Given the description of an element on the screen output the (x, y) to click on. 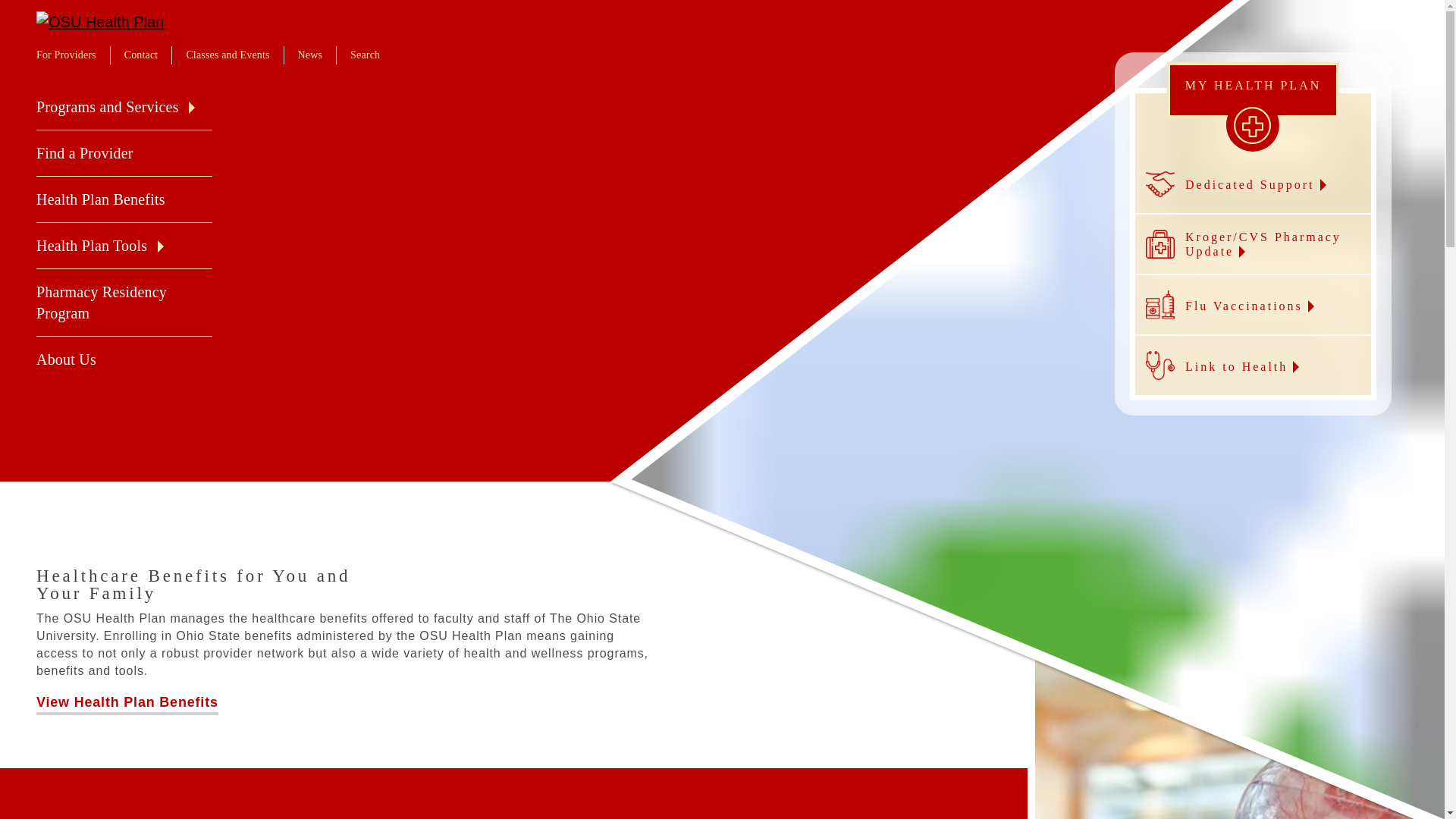
Contact (140, 54)
Programs and Services (107, 106)
Search (365, 54)
Pharmacy Residency Program (101, 302)
Dedicated Support (1252, 183)
News (310, 54)
Flu Vaccinations (1252, 304)
View Health Plan Benefits (127, 704)
Skip to main content (7, 7)
About Us (66, 359)
Classes and Events (227, 54)
Health Plan Tools (91, 245)
Link to Health (1252, 365)
Health Plan Benefits (100, 199)
For Providers (66, 54)
